Given the description of an element on the screen output the (x, y) to click on. 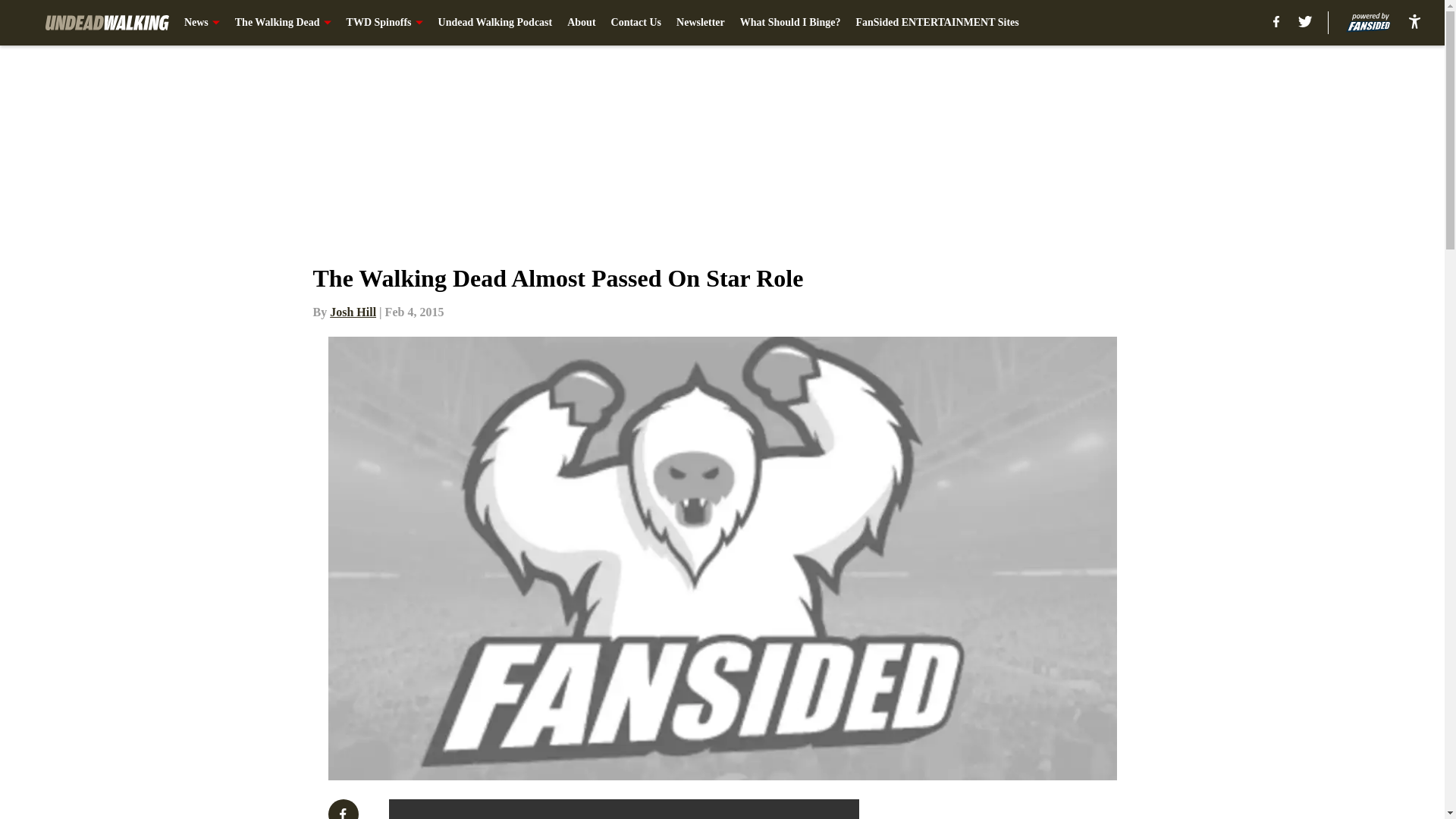
Josh Hill (352, 311)
Undead Walking Podcast (495, 22)
Newsletter (701, 22)
Contact Us (636, 22)
What Should I Binge? (790, 22)
FanSided ENTERTAINMENT Sites (936, 22)
About (581, 22)
